Given the description of an element on the screen output the (x, y) to click on. 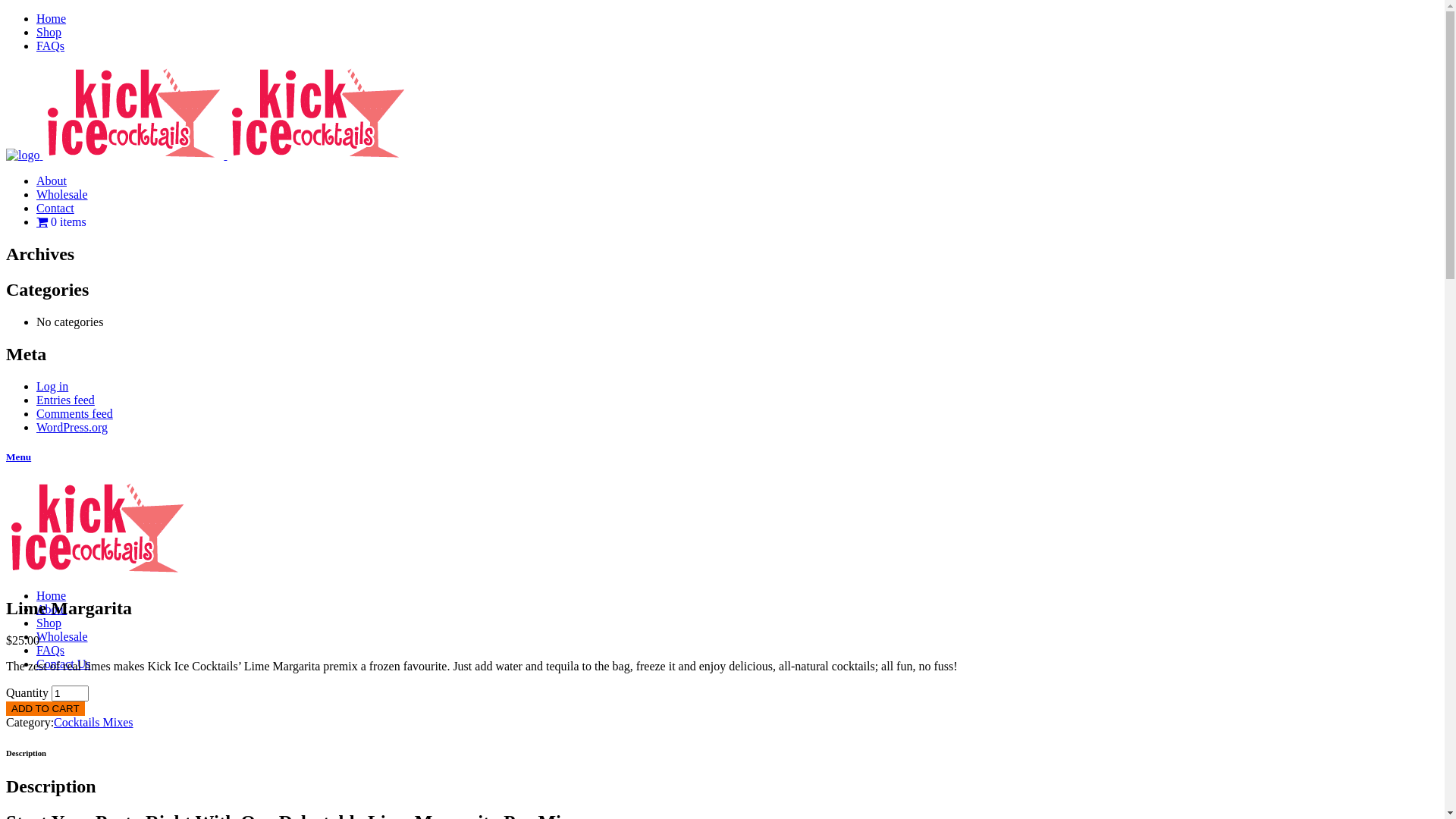
Shop Element type: text (48, 31)
Wholesale Element type: text (61, 194)
Cocktails Mixes Element type: text (92, 721)
Contact Us Element type: text (63, 663)
FAQs Element type: text (50, 45)
Wholesale Element type: text (61, 636)
About Element type: text (51, 180)
Comments feed Element type: text (74, 413)
Entries feed Element type: text (65, 399)
Home Element type: text (50, 595)
About Element type: text (51, 608)
Shop Element type: text (48, 622)
Log in Element type: text (52, 385)
Contact Element type: text (55, 207)
WordPress.org Element type: text (71, 426)
Qty Element type: hover (69, 693)
ADD TO CART Element type: text (45, 708)
FAQs Element type: text (50, 649)
Home Element type: text (50, 18)
Menu Element type: text (722, 457)
0 items Element type: text (61, 221)
